Given the description of an element on the screen output the (x, y) to click on. 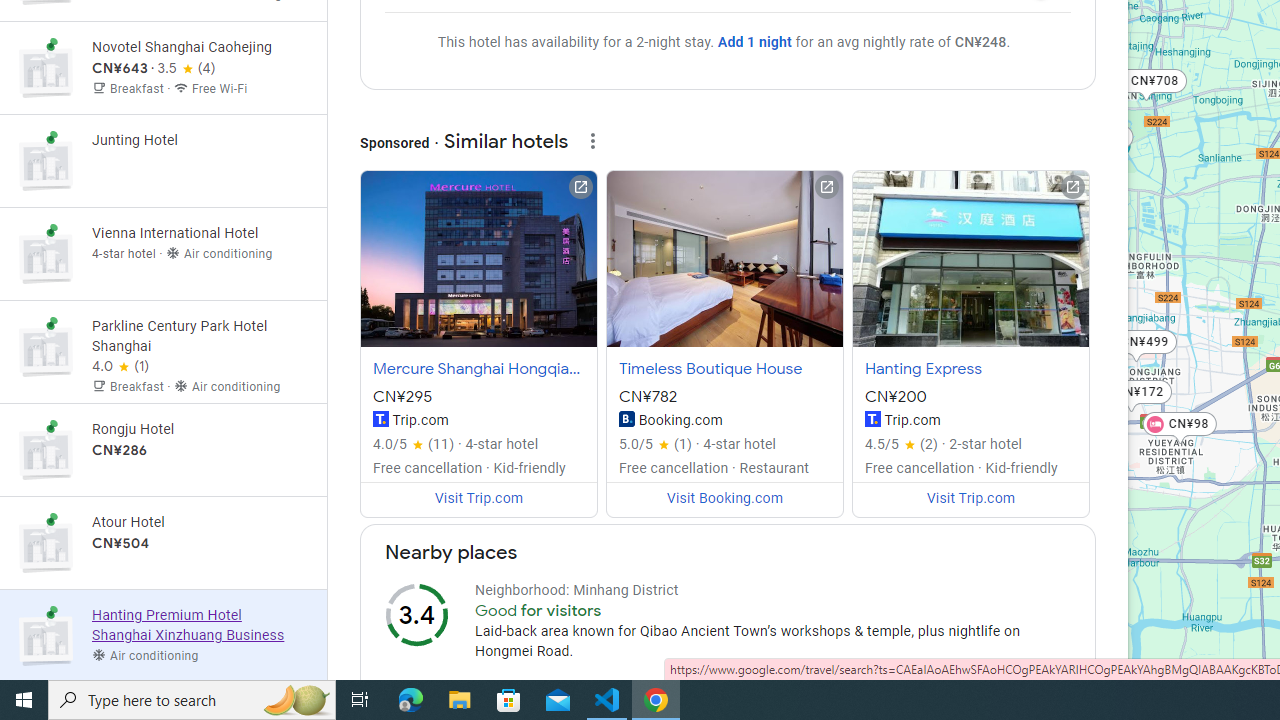
View prices for Rongju Hotel (200, 519)
View prices for Vienna International Hotel (200, 323)
View prices for Novotel Shanghai Caohejing (200, 137)
3.5 out of 5 stars from 4 reviews (186, 69)
Trip.com (872, 418)
View prices for Junting Hotel (200, 230)
